Given the description of an element on the screen output the (x, y) to click on. 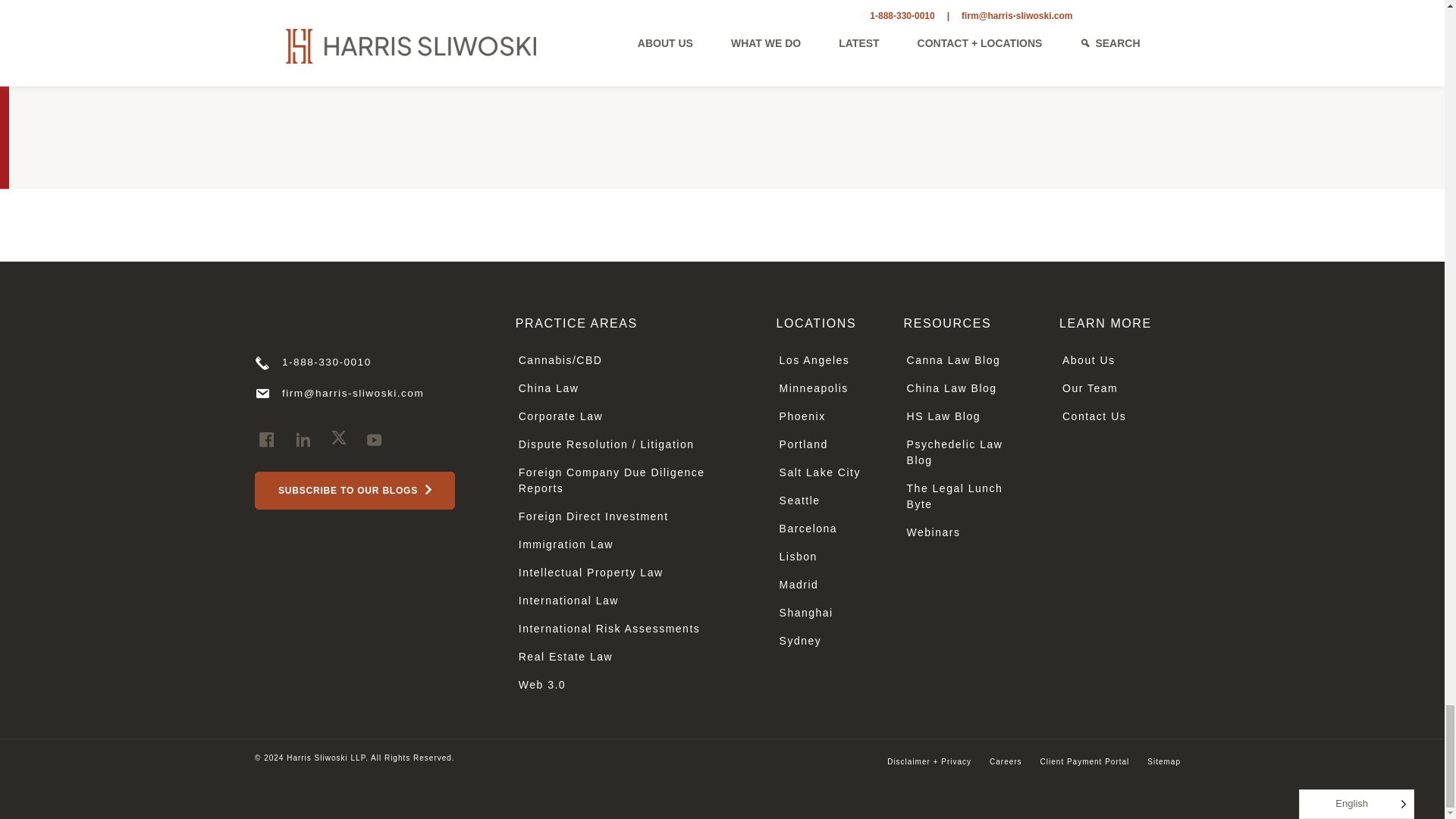
DMCA.com Protection Status (1139, 662)
